Given the description of an element on the screen output the (x, y) to click on. 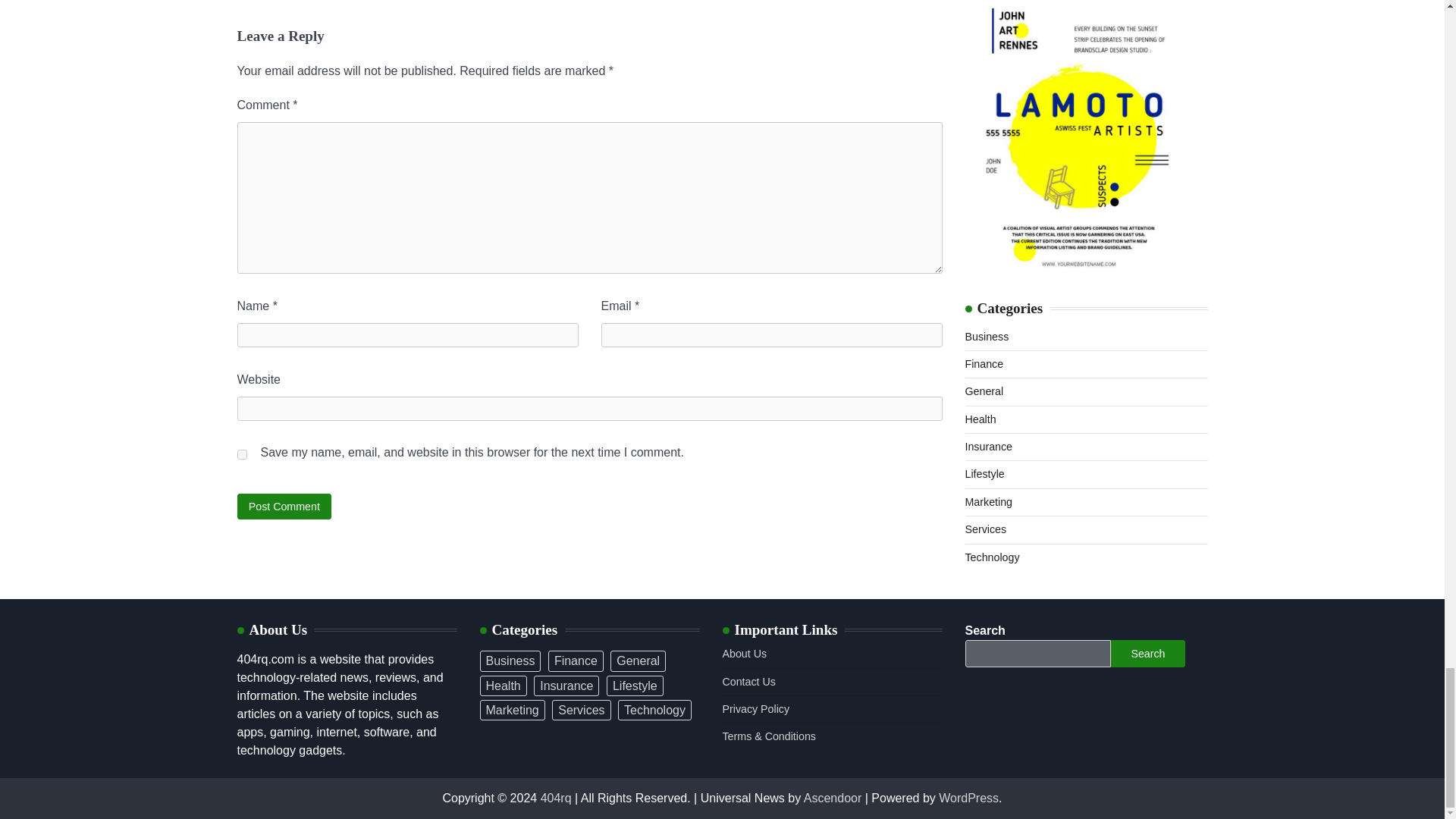
Post Comment (283, 505)
Post Comment (283, 505)
yes (240, 454)
